Given the description of an element on the screen output the (x, y) to click on. 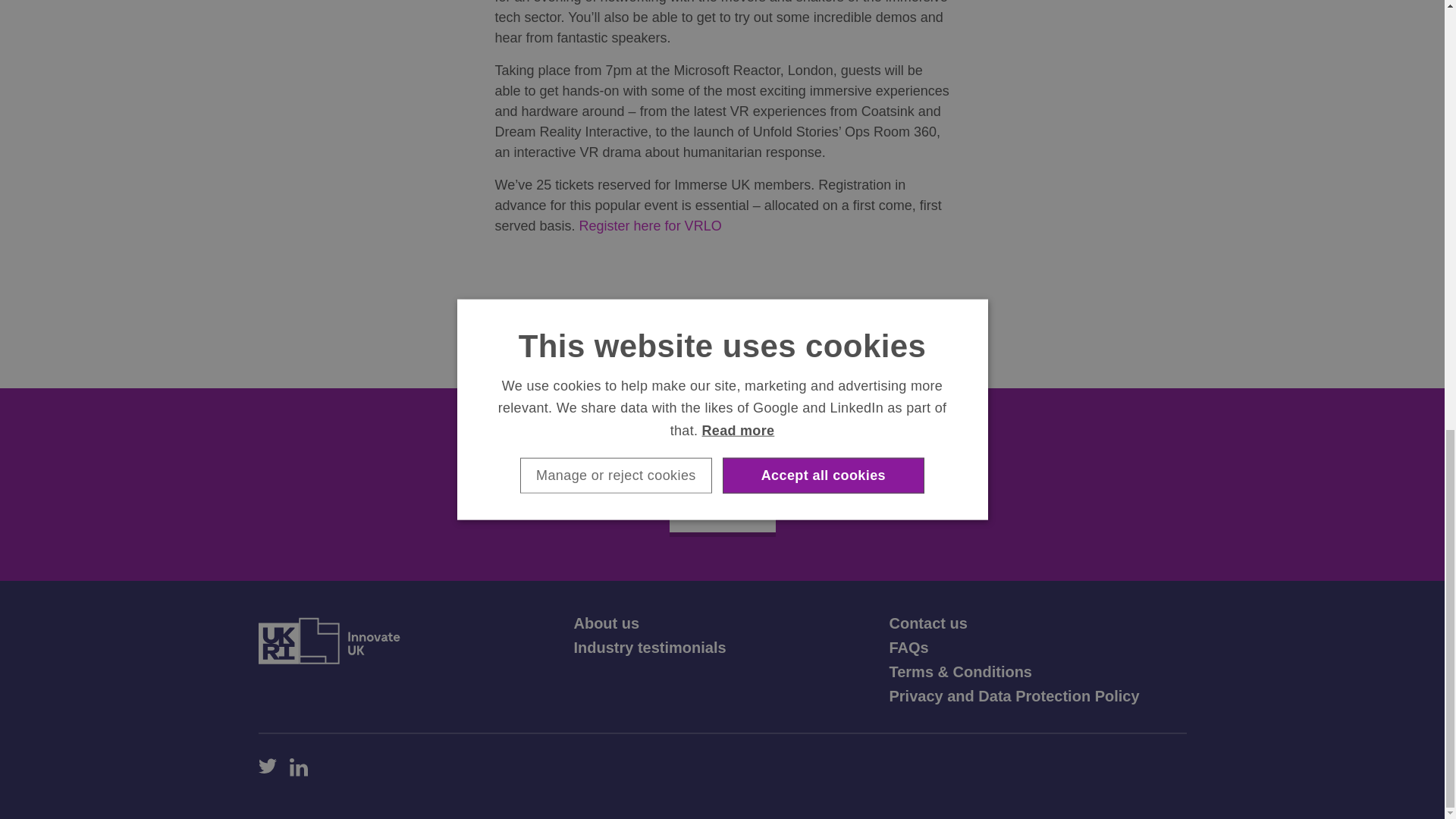
Contact us (927, 623)
Industry testimonials (649, 647)
About us (606, 623)
Link to Immersive Tech Network on LinkedIn (298, 767)
About us (606, 623)
Join (721, 510)
Contact us (927, 623)
Register here for VRLO (650, 225)
FAQs (908, 647)
Industry testimonials (649, 647)
